Given the description of an element on the screen output the (x, y) to click on. 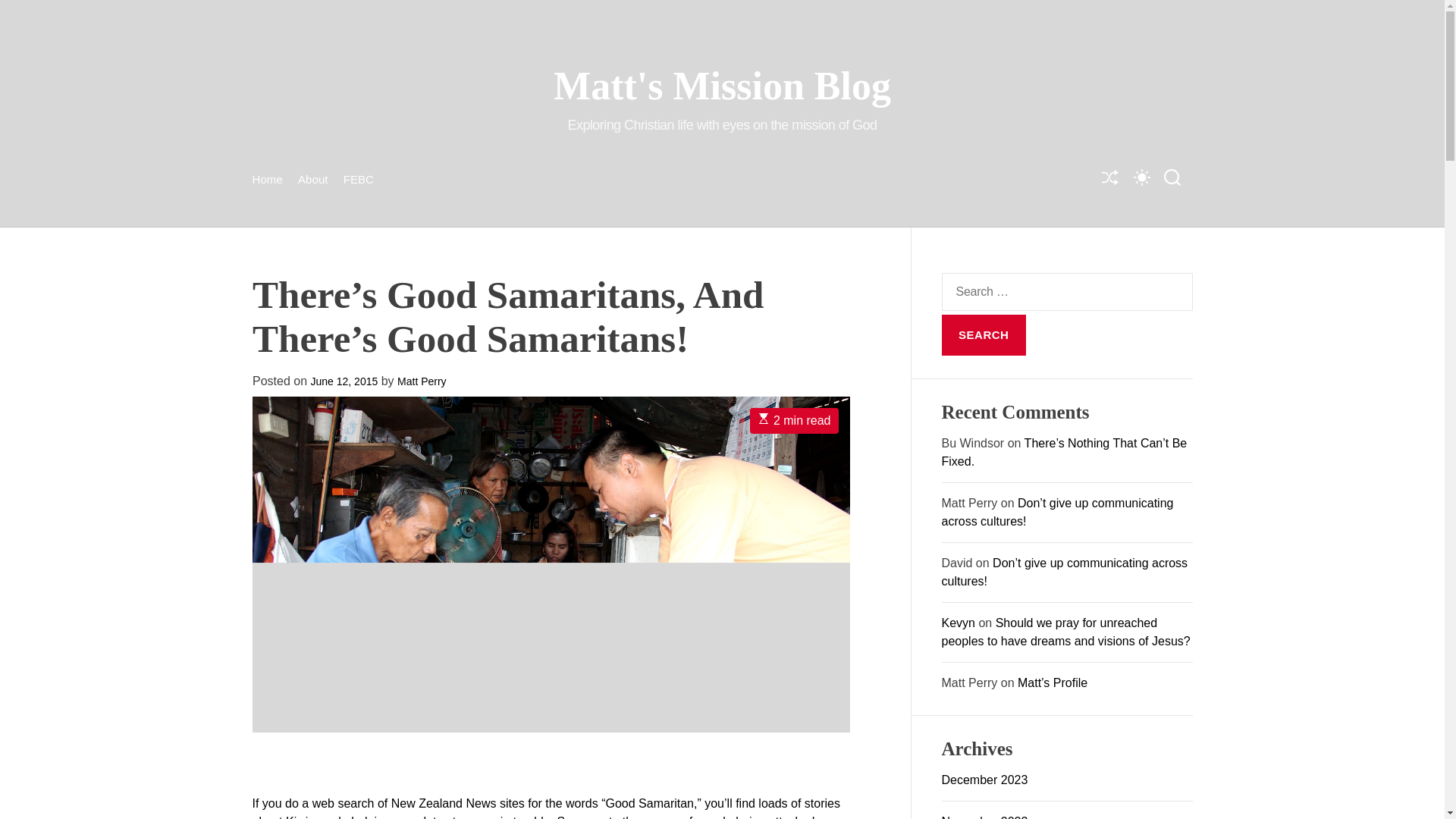
Matt's Mission Blog (722, 86)
Search (984, 334)
Matt Perry (421, 381)
Search (984, 334)
About (313, 179)
June 12, 2015 (343, 381)
FEBC (358, 179)
SWITCH COLOR MODE (1140, 176)
Home (266, 179)
Search (984, 334)
